Given the description of an element on the screen output the (x, y) to click on. 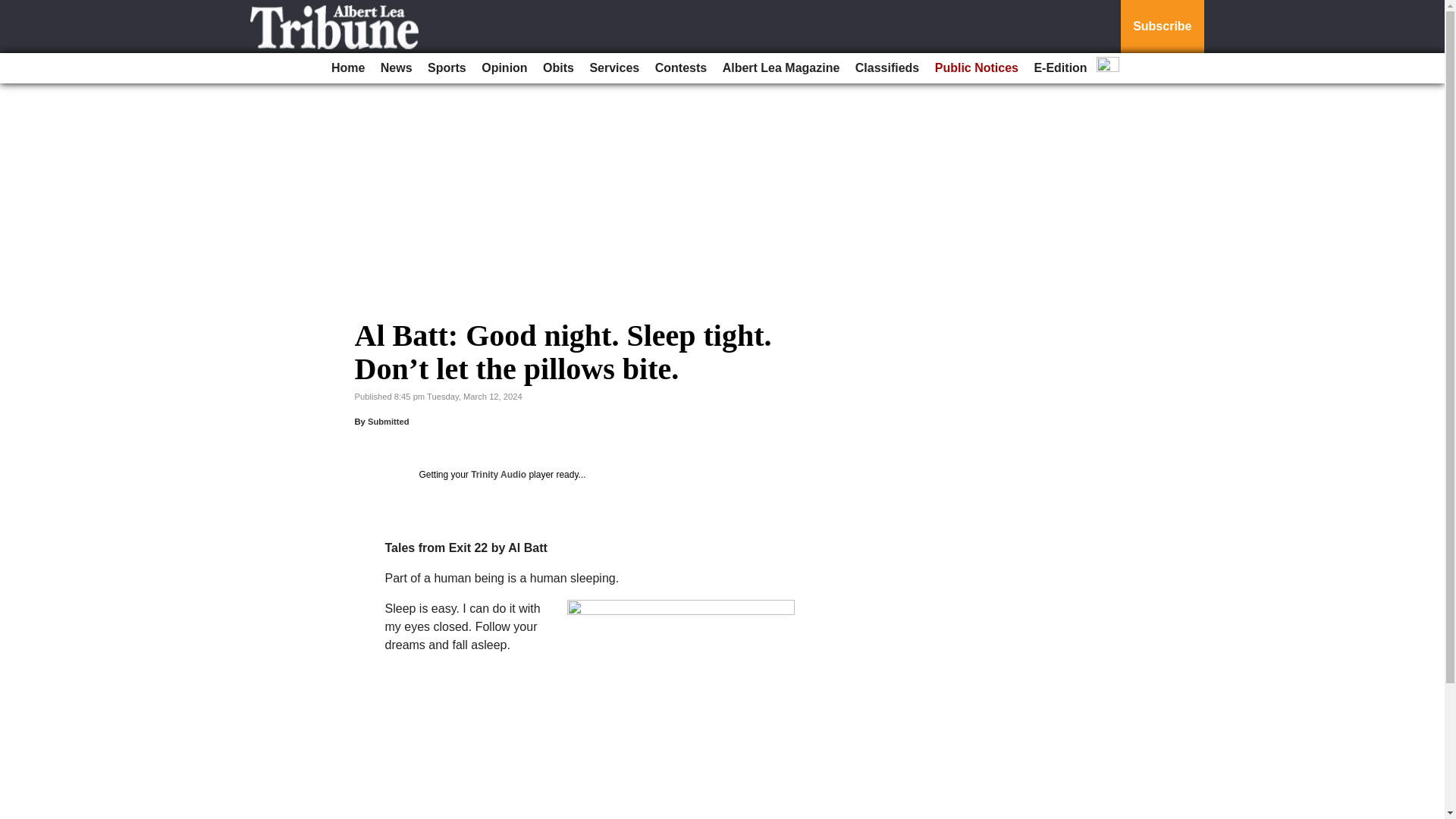
Obits (558, 68)
Subscribe (1162, 26)
Home (347, 68)
News (396, 68)
Opinion (504, 68)
Sports (446, 68)
Services (614, 68)
